Given the description of an element on the screen output the (x, y) to click on. 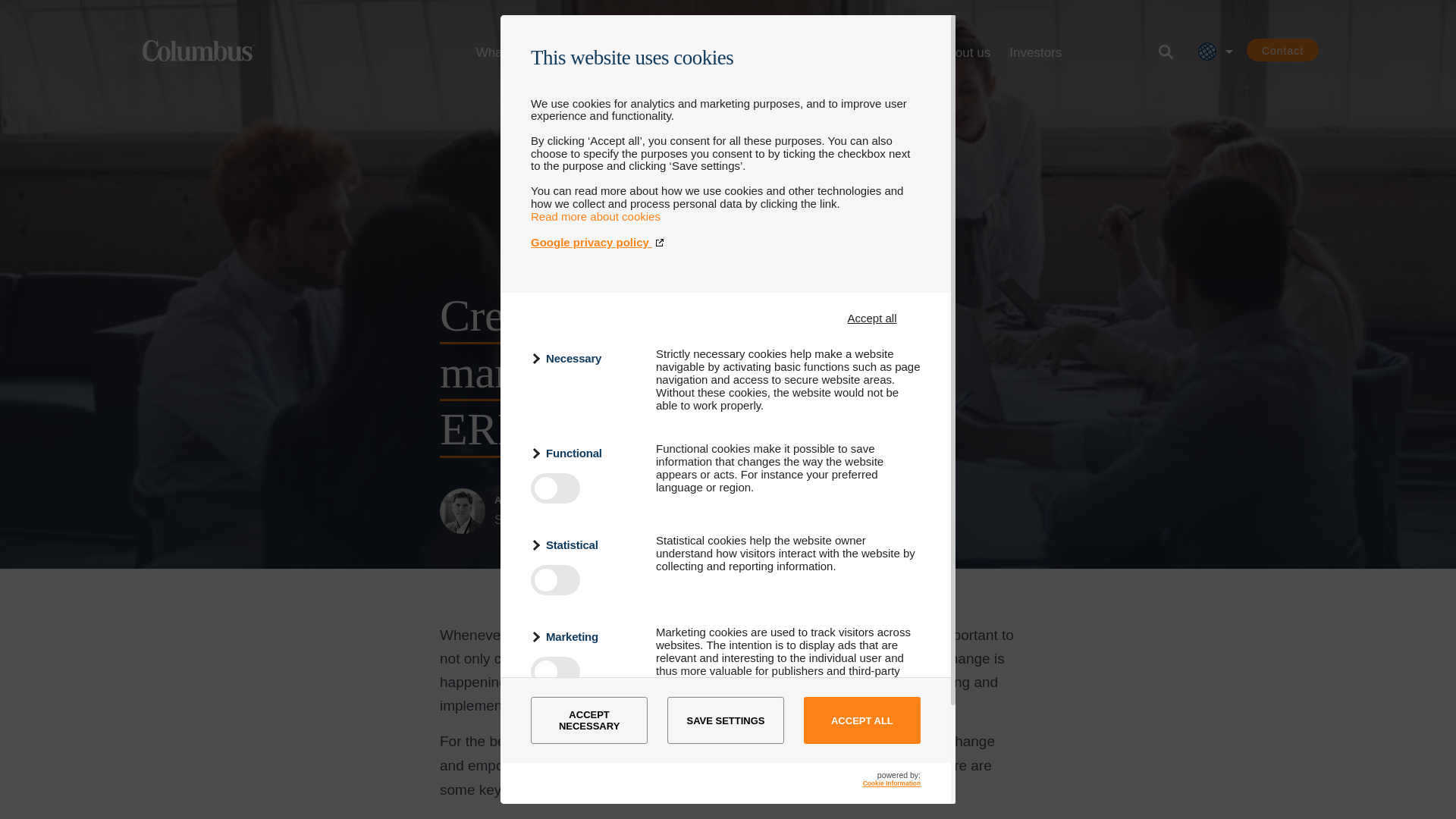
Marketing (584, 636)
Google privacy policy (725, 242)
Statistical (584, 544)
Functional (584, 453)
Accept all (872, 318)
Necessary (584, 358)
Read more about cookies (596, 215)
